Given the description of an element on the screen output the (x, y) to click on. 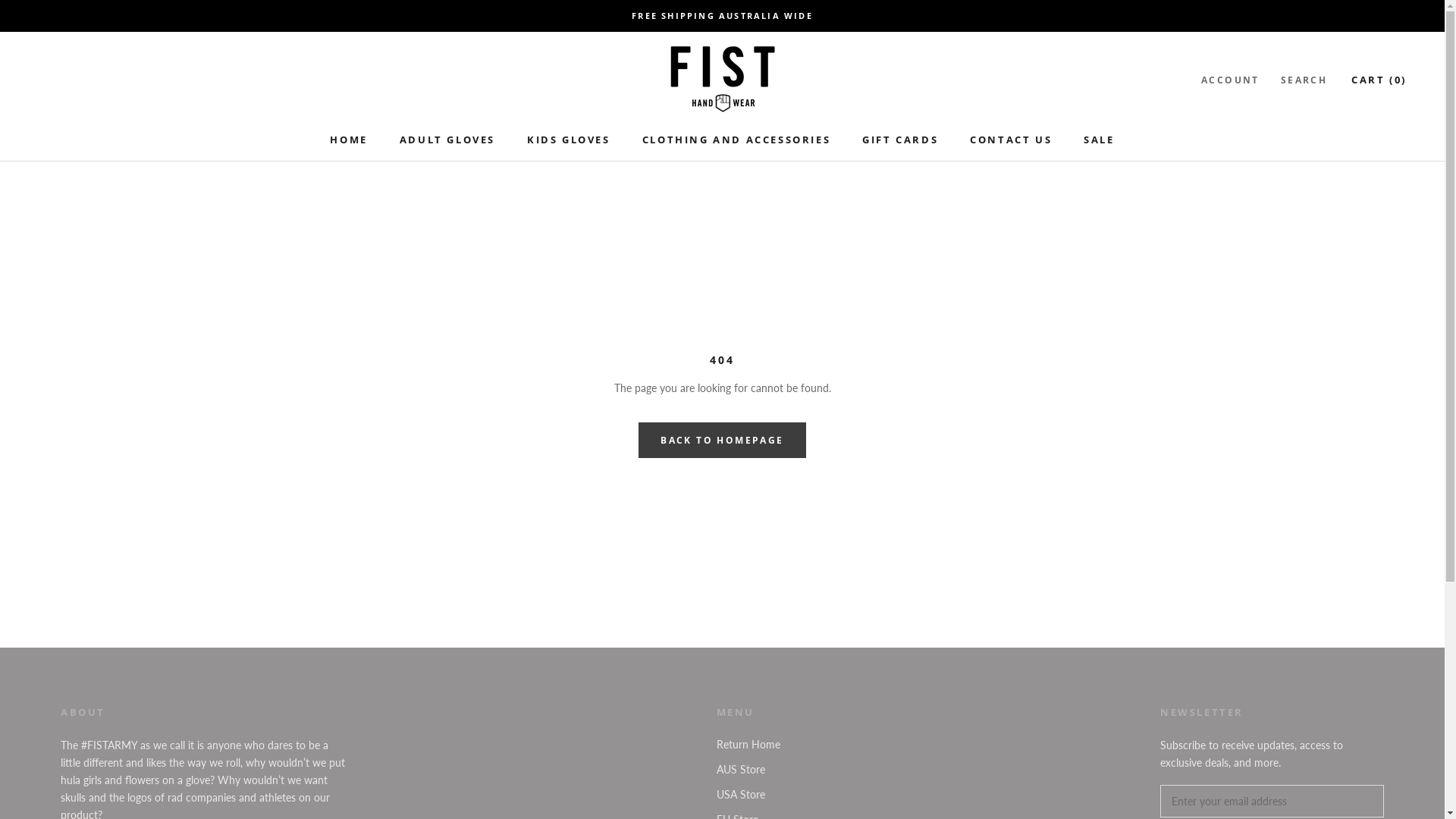
BACK TO HOMEPAGE Element type: text (721, 440)
ACCOUNT Element type: text (1230, 79)
CLOTHING AND ACCESSORIES Element type: text (736, 139)
SEARCH Element type: text (1303, 79)
CONTACT US
CONTACT US Element type: text (1010, 139)
KIDS GLOVES Element type: text (568, 139)
SALE
SALE Element type: text (1098, 139)
USA Store Element type: text (753, 794)
CART (0) Element type: text (1378, 79)
HOME
HOME Element type: text (348, 139)
AUS Store Element type: text (753, 769)
GIFT CARDS
GIFT CARDS Element type: text (900, 139)
ADULT GLOVES Element type: text (447, 139)
Return Home Element type: text (753, 744)
